Given the description of an element on the screen output the (x, y) to click on. 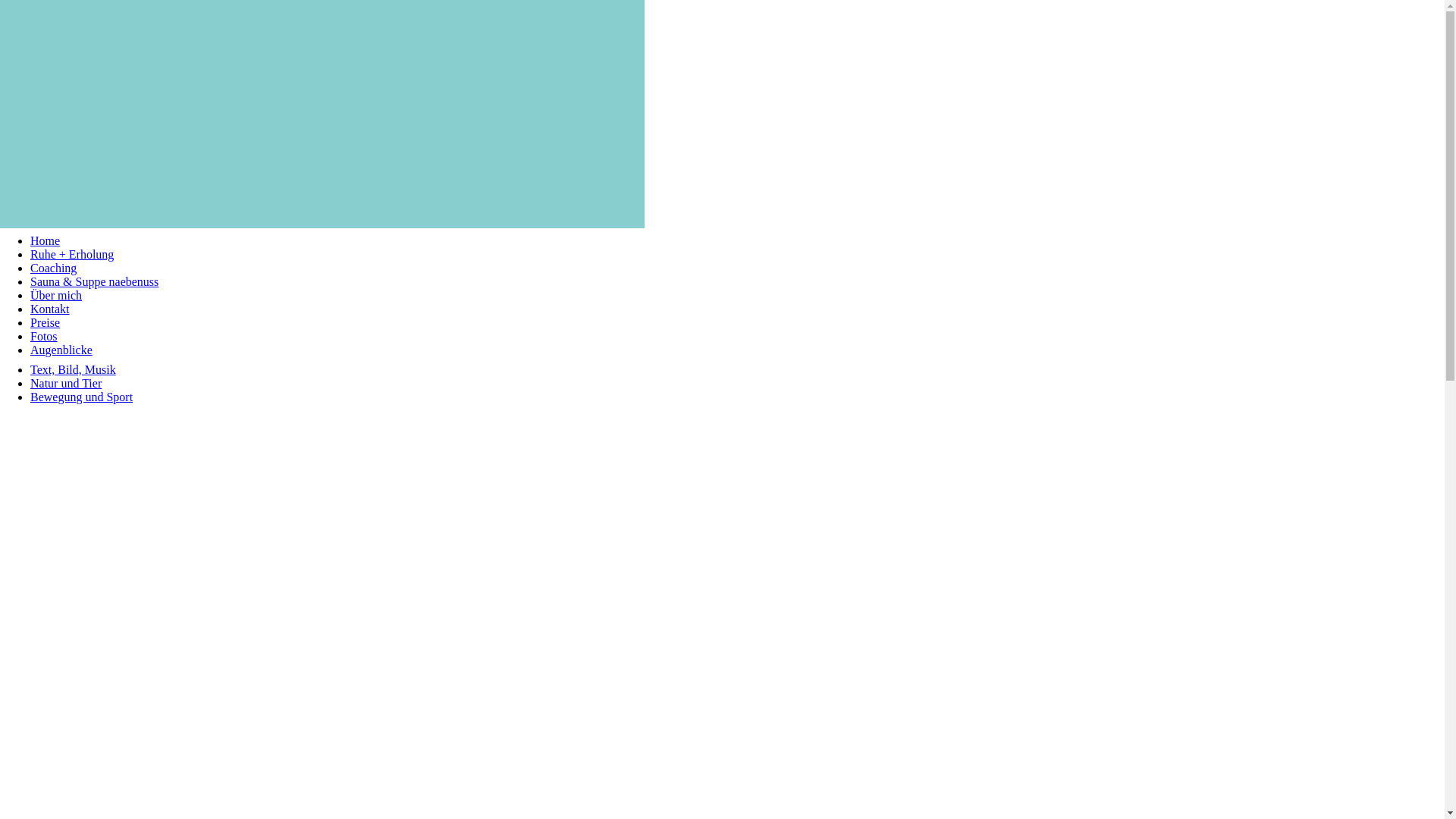
Ruhe + Erholung Element type: text (71, 253)
Kontakt Element type: text (49, 308)
Home Element type: text (44, 240)
Fotos Element type: text (43, 335)
Natur und Tier Element type: text (65, 382)
Coaching Element type: text (53, 267)
Text, Bild, Musik Element type: text (73, 369)
Bewegung und Sport Element type: text (81, 396)
Preise Element type: text (44, 322)
Sauna & Suppe naebenuss Element type: text (94, 281)
Augenblicke Element type: text (61, 349)
